Given the description of an element on the screen output the (x, y) to click on. 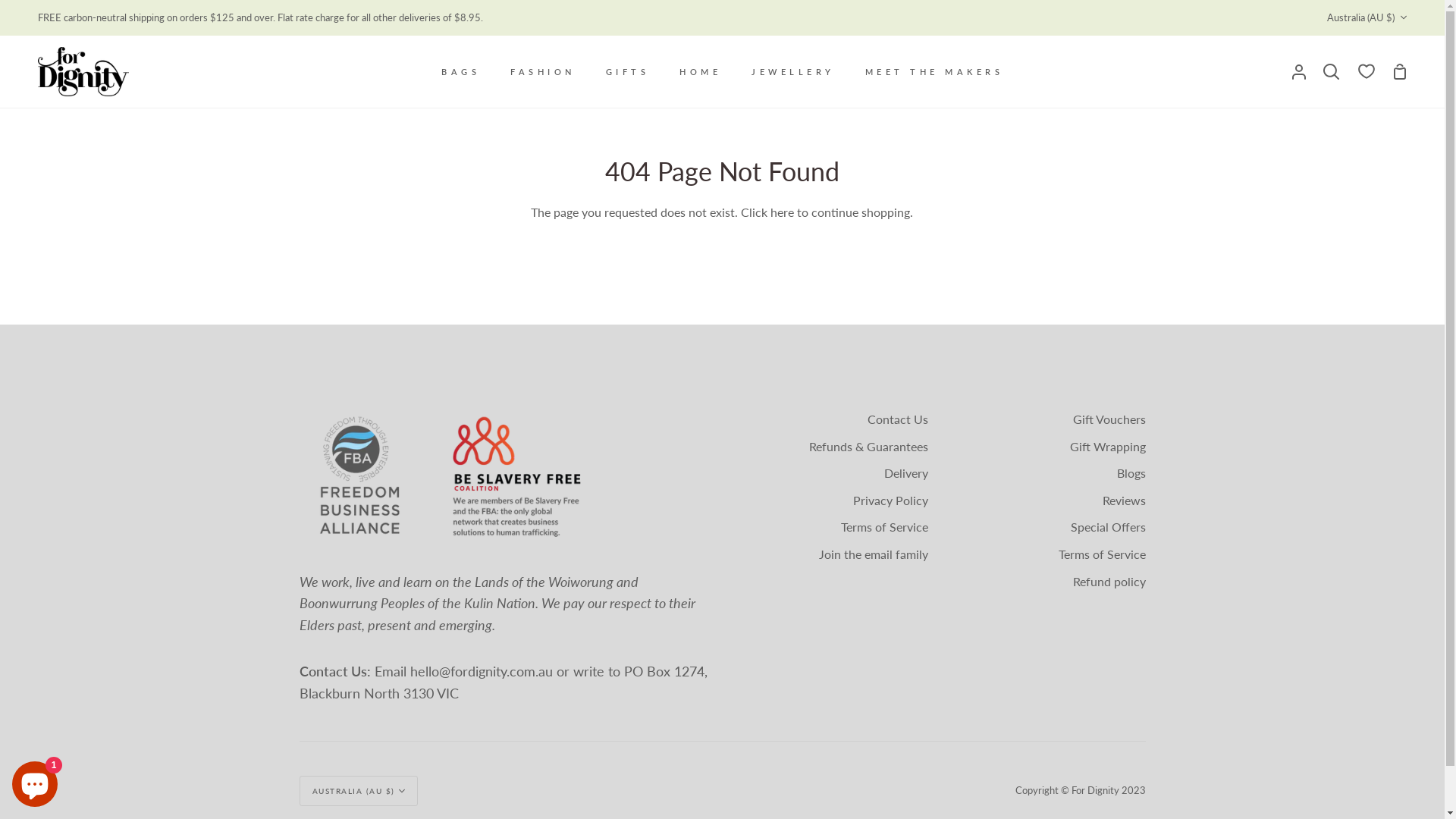
Shopping Cart Element type: text (1399, 71)
BAGS Element type: text (460, 71)
Contact Us Element type: text (897, 420)
Delivery Element type: text (906, 474)
Search Element type: text (1330, 71)
FASHION Element type: text (542, 71)
Special Offers Element type: text (1107, 527)
Privacy Policy Element type: text (889, 501)
Gift Vouchers Element type: text (1108, 420)
My Account Element type: text (1298, 71)
here Element type: text (781, 211)
Terms of Service Element type: text (1101, 555)
Gift Wrapping Element type: text (1107, 447)
Blogs Element type: text (1130, 474)
AUSTRALIA (AU $) Element type: text (357, 790)
JEWELLERY Element type: text (793, 71)
View Wishlist Element type: hover (1366, 71)
Join the email family Element type: text (873, 555)
MEET THE MAKERS Element type: text (933, 71)
Reviews Element type: text (1123, 501)
Refund policy Element type: text (1108, 582)
GIFTS Element type: text (626, 71)
Refunds & Guarantees Element type: text (867, 447)
HOME Element type: text (700, 71)
Australia (AU $) Element type: text (1366, 17)
Shopify online store chat Element type: hover (34, 780)
Terms of Service Element type: text (883, 527)
